Given the description of an element on the screen output the (x, y) to click on. 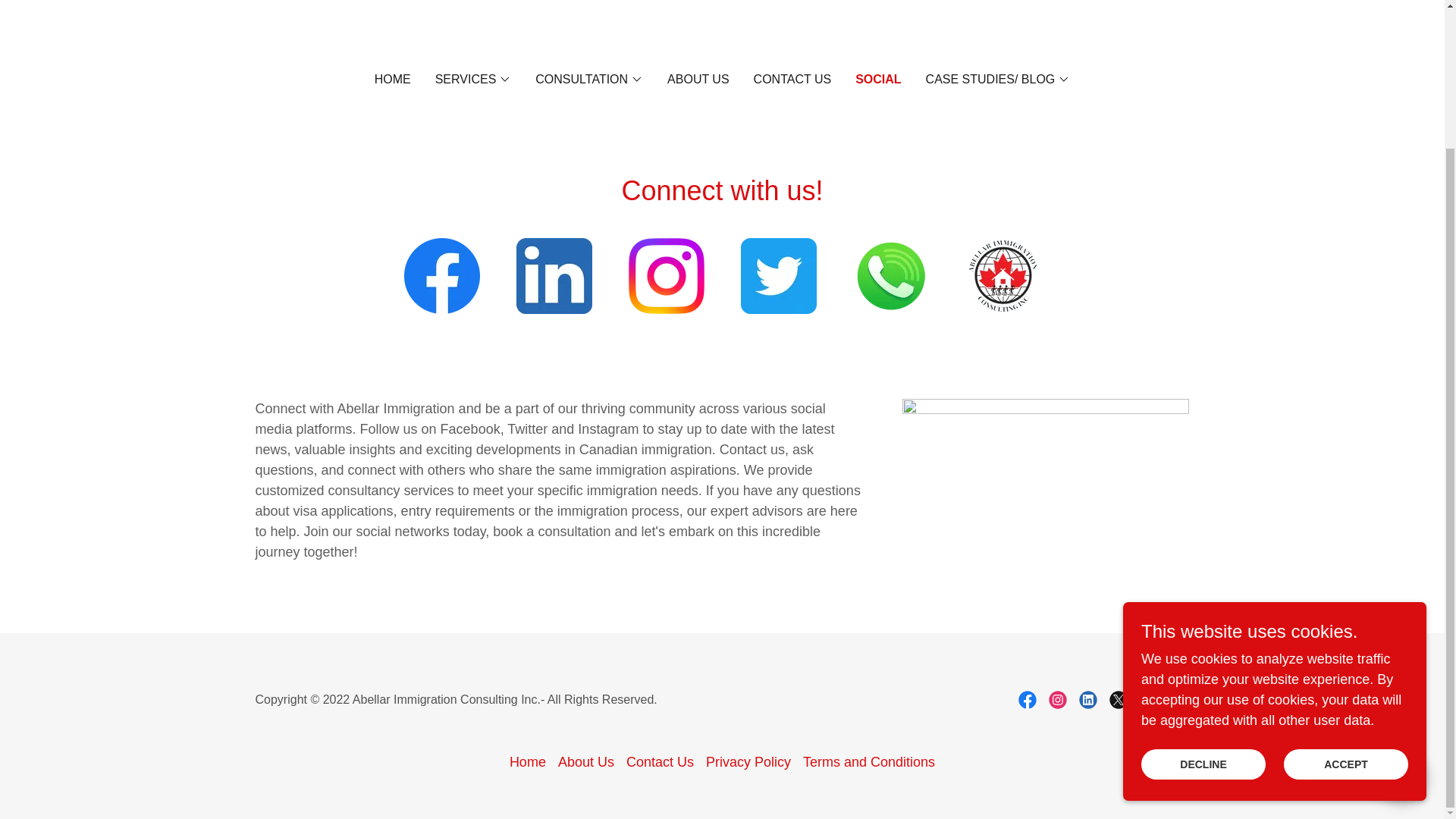
ABOUT US (697, 79)
SOCIAL (878, 79)
HOME (391, 79)
CONTACT US (792, 79)
SERVICES (473, 79)
CONSULTATION (589, 79)
